Given the description of an element on the screen output the (x, y) to click on. 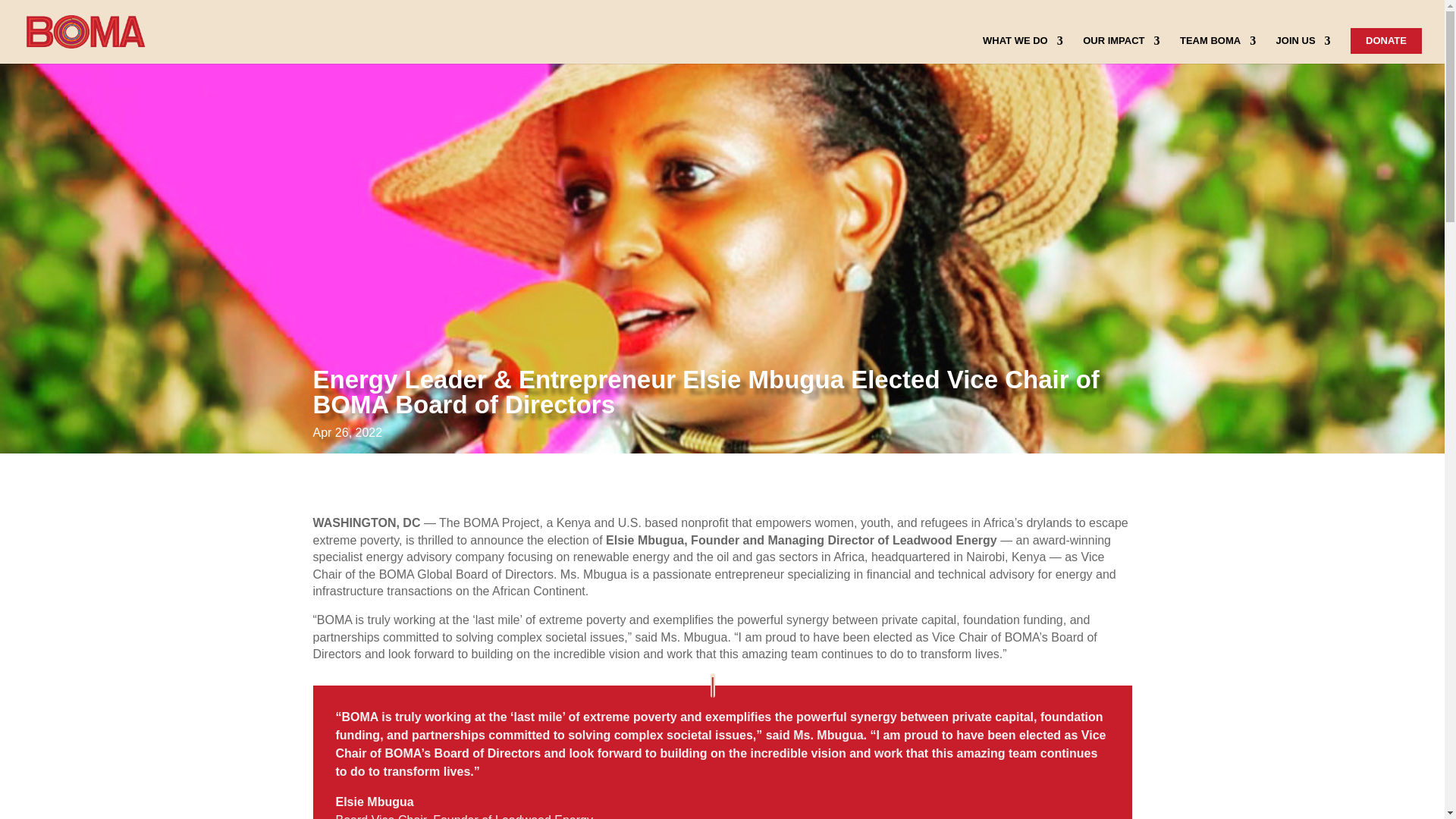
OUR IMPACT (1120, 49)
WHAT WE DO (1022, 49)
JOIN US (1303, 49)
TEAM BOMA (1217, 49)
DONATE (1386, 40)
